Given the description of an element on the screen output the (x, y) to click on. 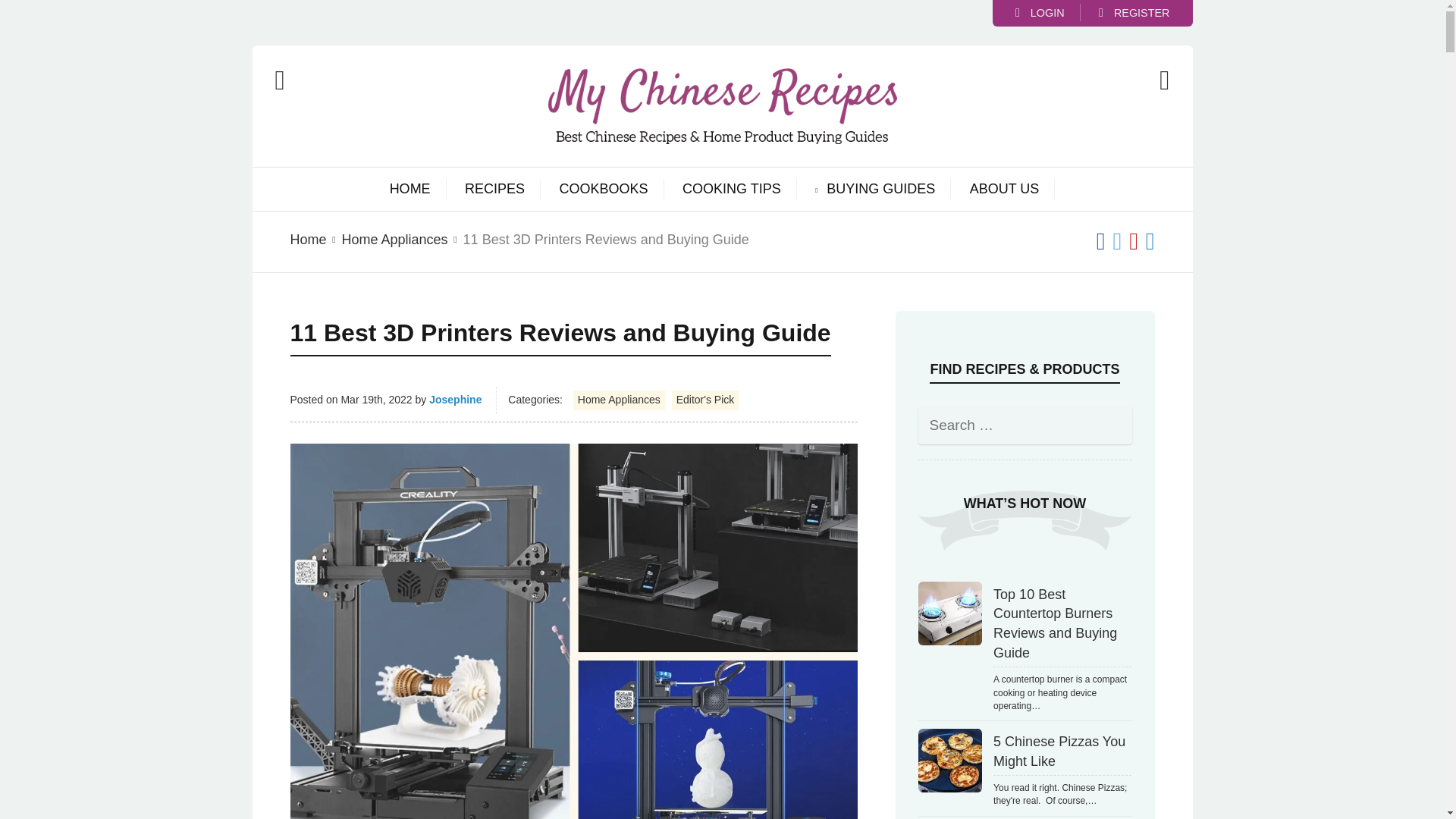
ABOUT US (1004, 189)
BUYING GUIDES (880, 189)
Josephine (455, 399)
Top 10 Best Countertop Burners Reviews and Buying Guide (949, 613)
LOGIN (1039, 12)
View all posts in Home Appliances (395, 240)
Search for: (1024, 425)
COOKING TIPS (731, 189)
HOME (410, 189)
Home Appliances (395, 240)
Home (307, 240)
Editor's Pick (705, 400)
REGISTER (1134, 12)
Home Appliances (619, 400)
COOKBOOKS (603, 189)
